Given the description of an element on the screen output the (x, y) to click on. 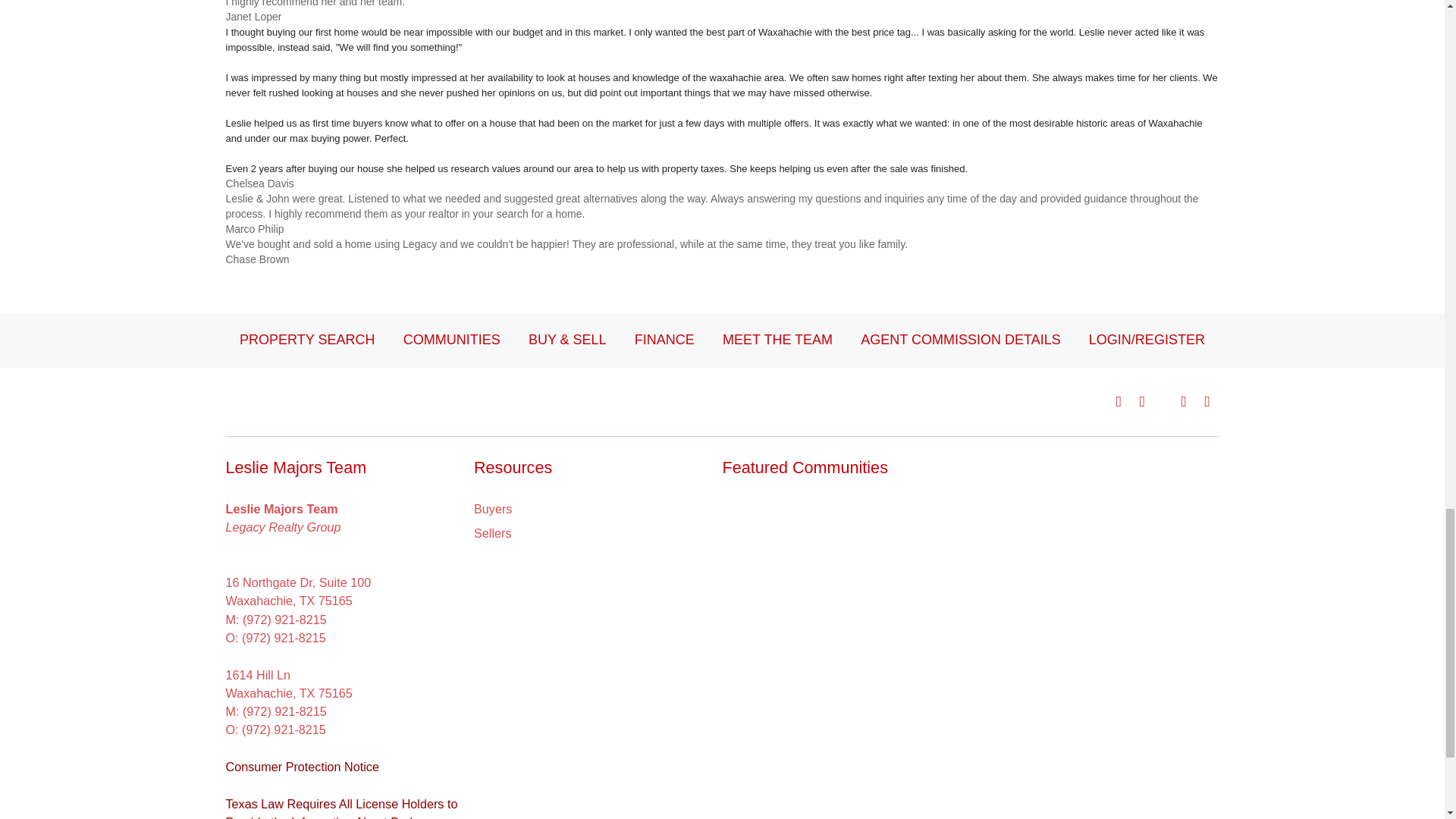
Follow us on Facebook (1118, 401)
Follow us on LinkedIn (1207, 401)
Follow us on Instagram (1142, 401)
Home Page (319, 400)
View Buyers (493, 508)
Follow us on YouTube (1183, 401)
Follow us on Twitter (1163, 401)
